Given the description of an element on the screen output the (x, y) to click on. 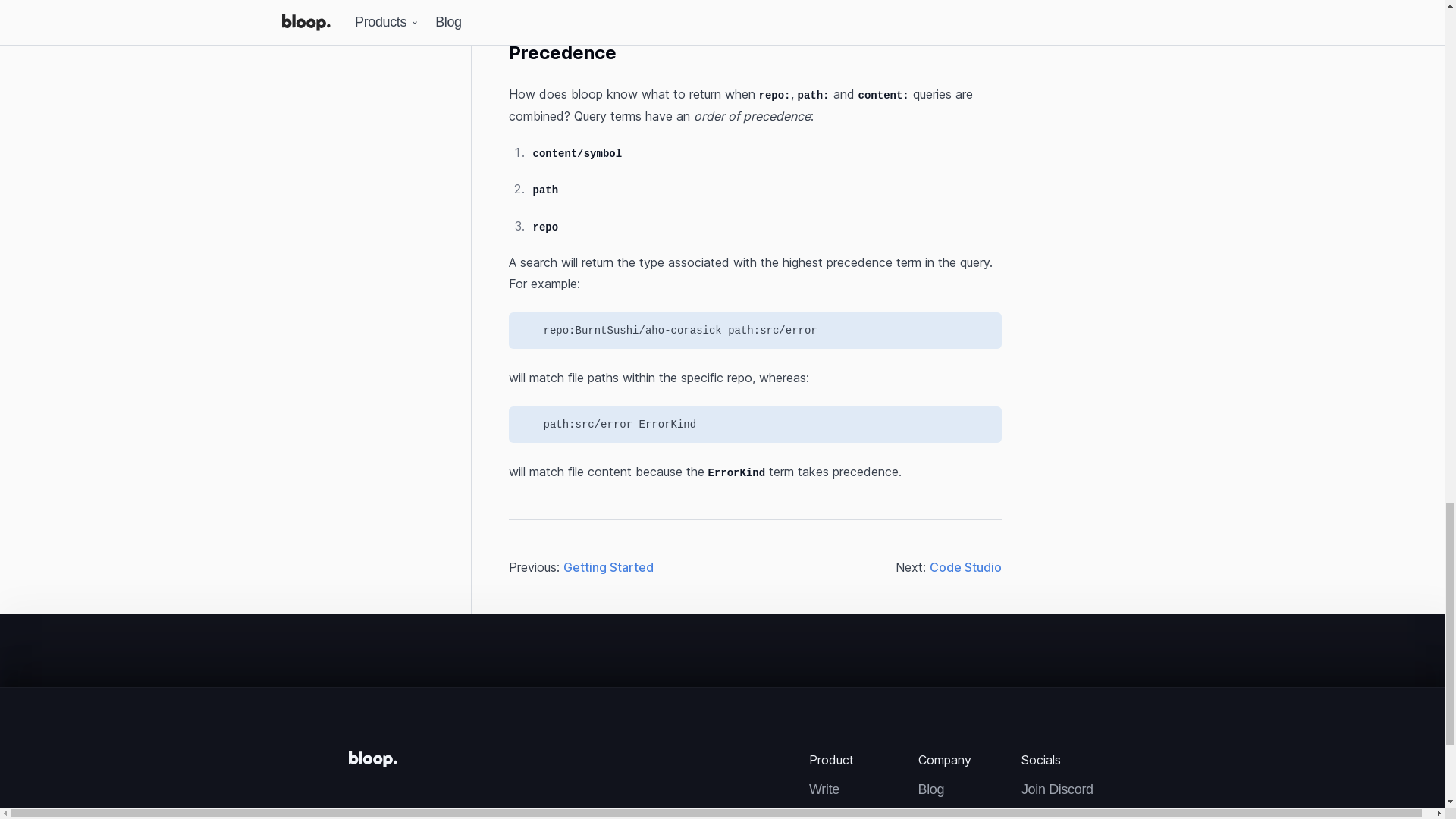
Follow us on X (1064, 812)
Contact us (948, 812)
Code Studio (965, 566)
Getting Started (607, 566)
Write (842, 790)
Understand (842, 812)
Join Discord (1064, 790)
Blog (948, 790)
